Given the description of an element on the screen output the (x, y) to click on. 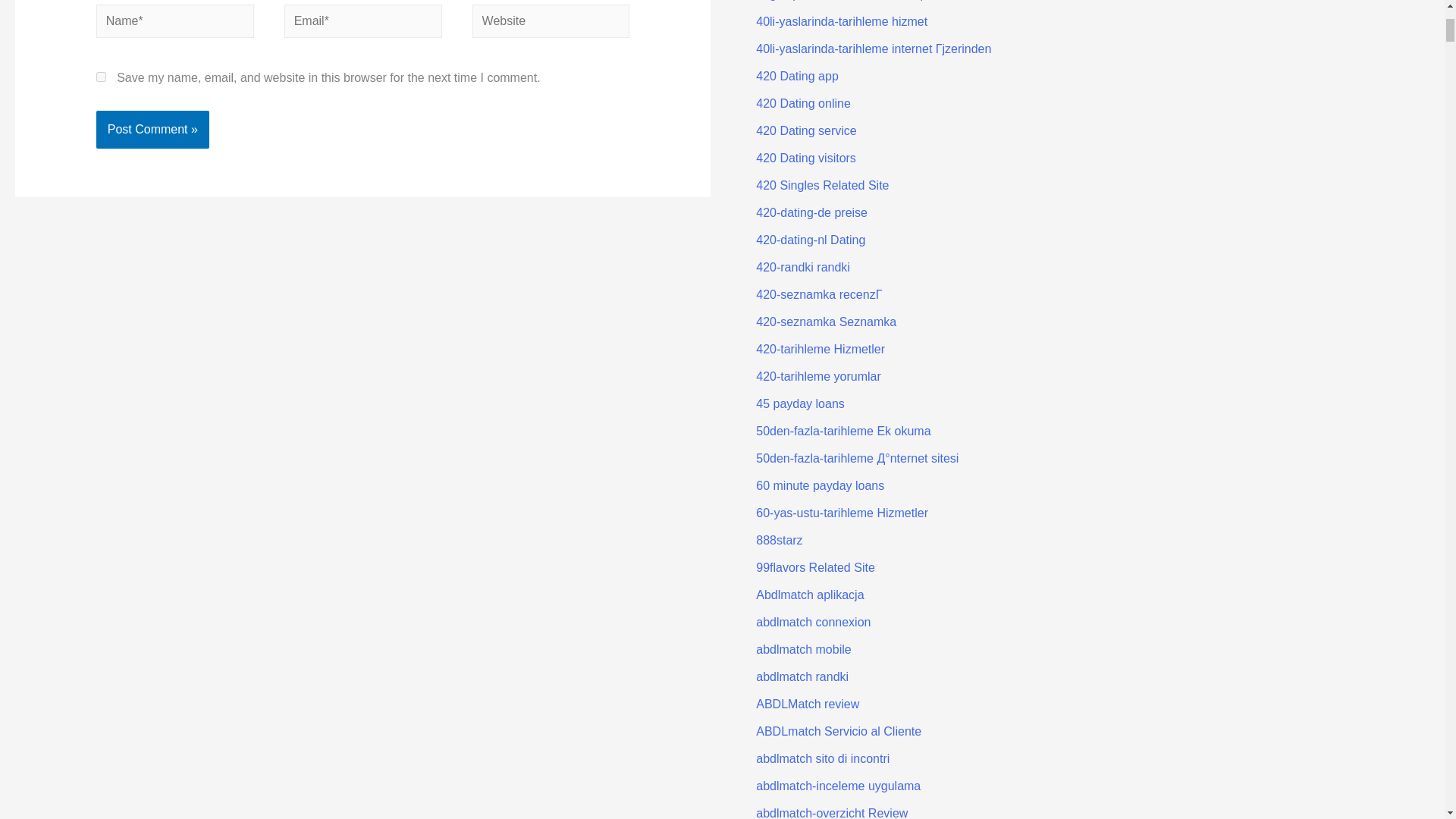
yes (101, 76)
